Given the description of an element on the screen output the (x, y) to click on. 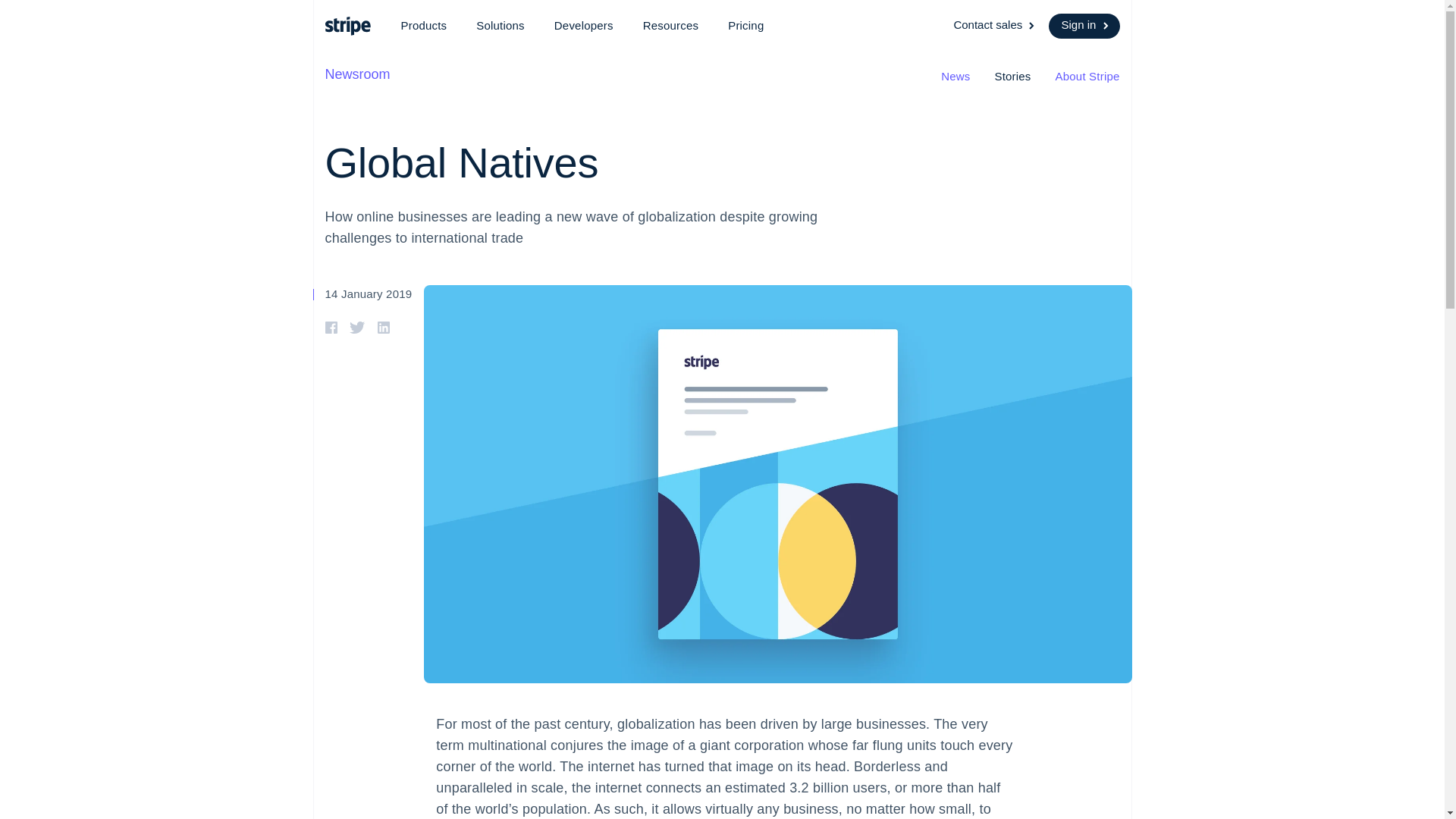
Pricing (745, 25)
Developers (583, 25)
Solutions (500, 25)
Sign in  (1083, 25)
Products (423, 25)
Contact sales  (994, 25)
Resources (670, 25)
